Given the description of an element on the screen output the (x, y) to click on. 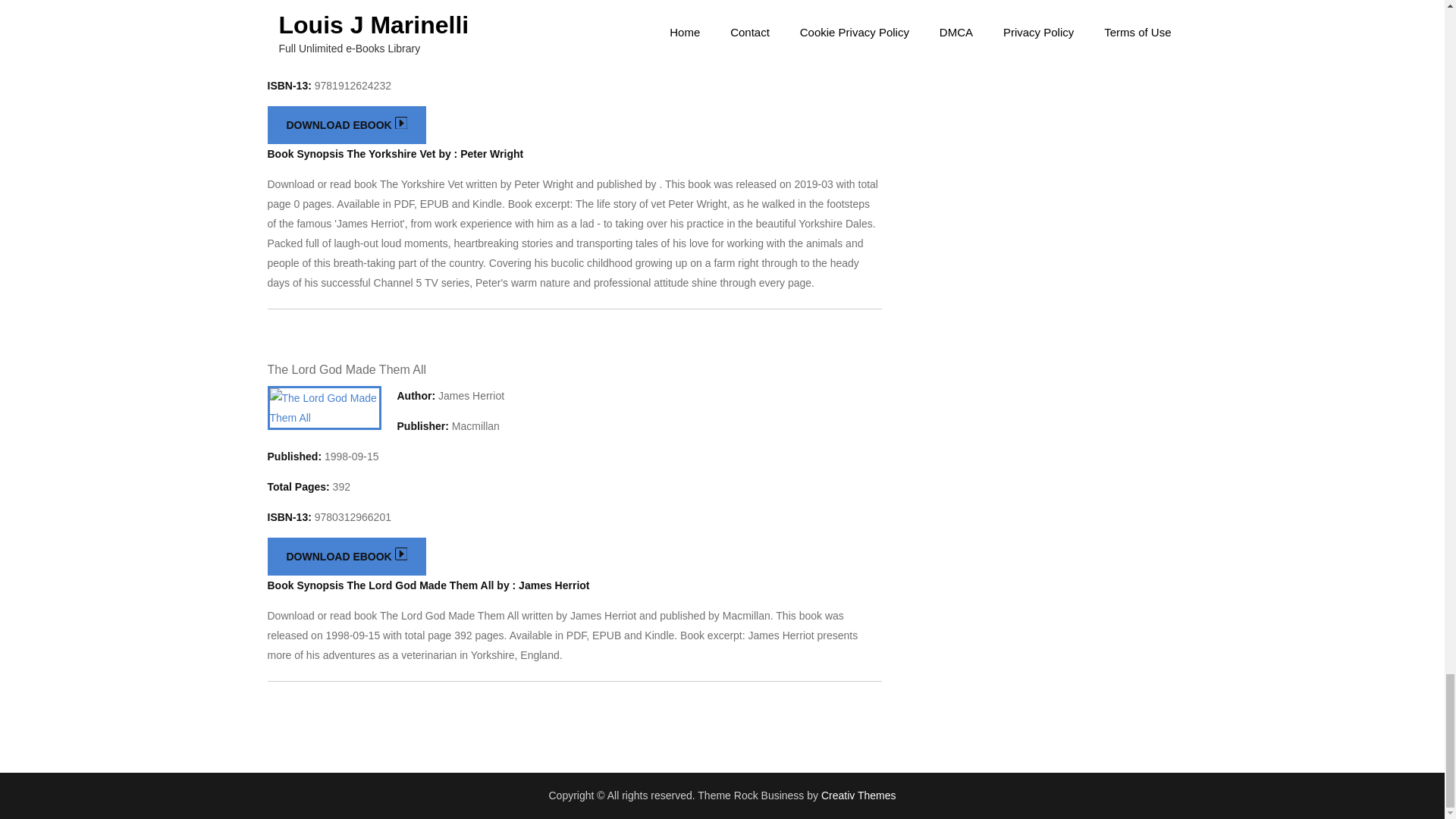
DOWNLOAD EBOOK (346, 556)
The Lord God Made Them All (346, 369)
DOWNLOAD EBOOK (346, 125)
